Given the description of an element on the screen output the (x, y) to click on. 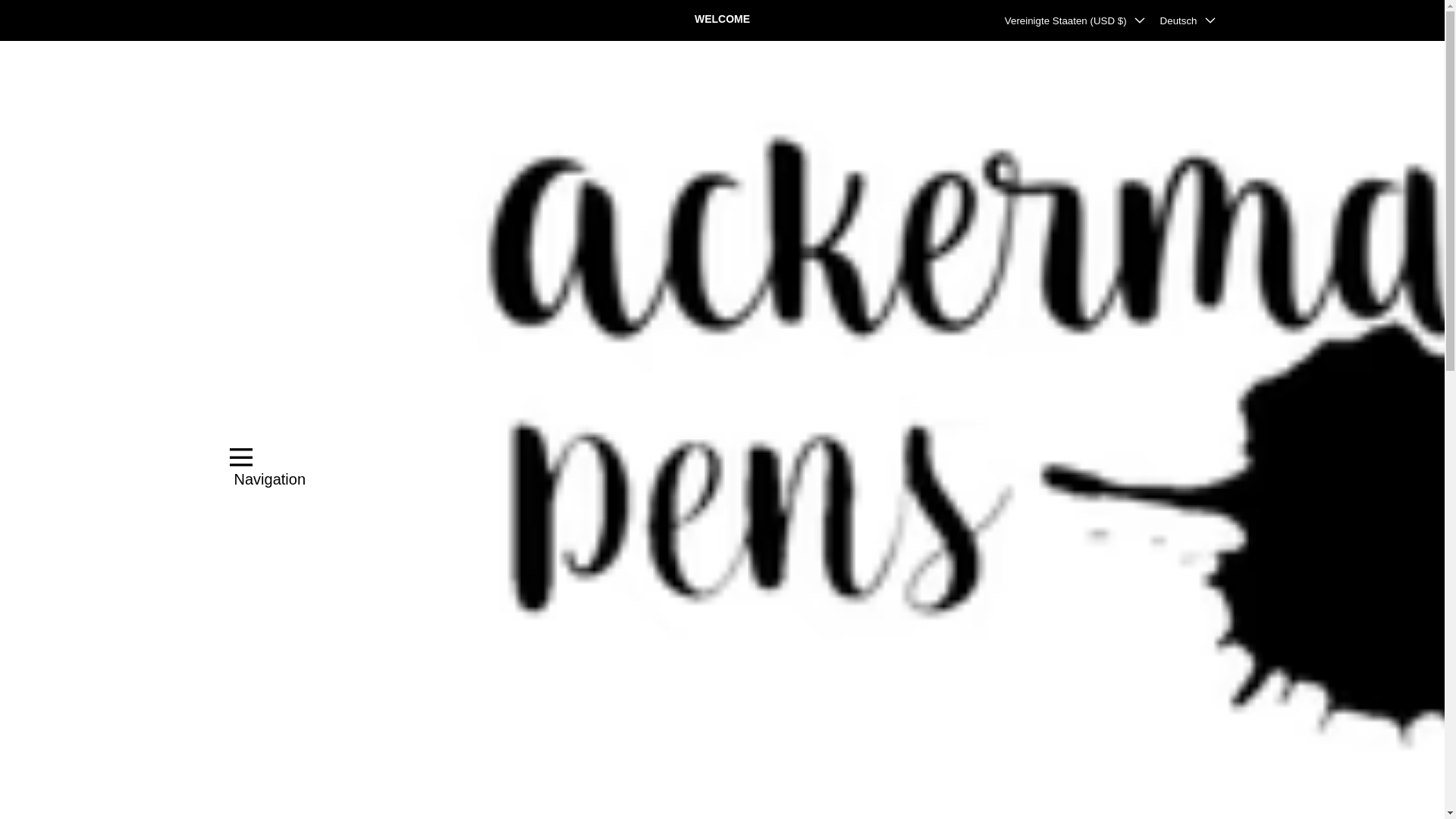
YouTube (319, 20)
Instagram (264, 20)
Pinterest (291, 20)
Facebook (237, 20)
Facebook (237, 20)
Pinterest (291, 20)
Deutsch (1187, 20)
Instagram (264, 20)
YouTube (319, 20)
